Given the description of an element on the screen output the (x, y) to click on. 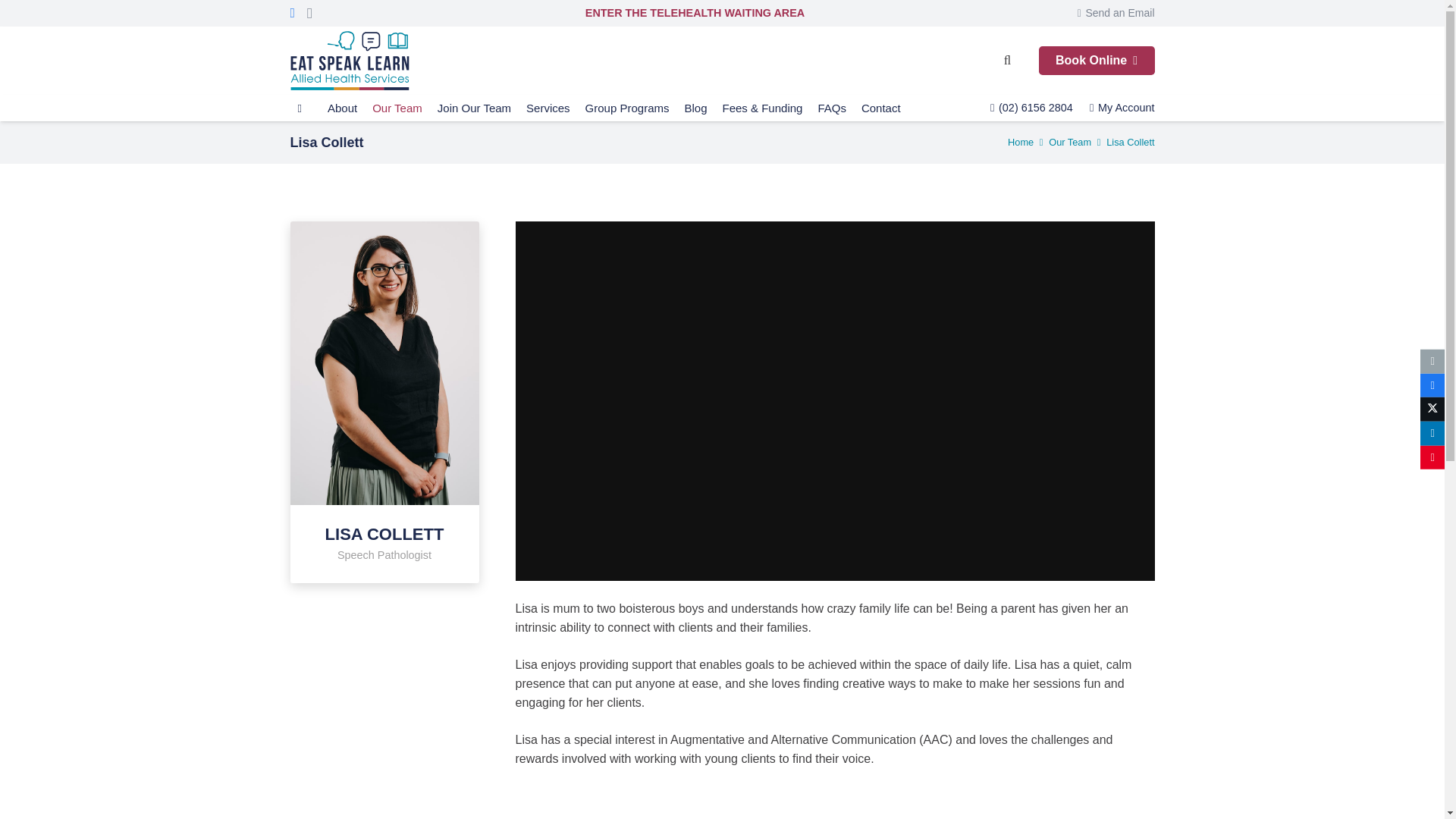
Send an Email (1115, 12)
Our Team (397, 108)
Group Programs (627, 108)
Book Online (1096, 60)
Contact (880, 108)
Home (1020, 142)
Share this (1432, 385)
Book Online (492, 669)
Lisa Collett (1130, 142)
ENTER THE TELEHEALTH WAITING AREA (695, 12)
FAQs (831, 108)
Share this (1432, 433)
Tweet this (1432, 409)
Pin this (1432, 457)
